Given the description of an element on the screen output the (x, y) to click on. 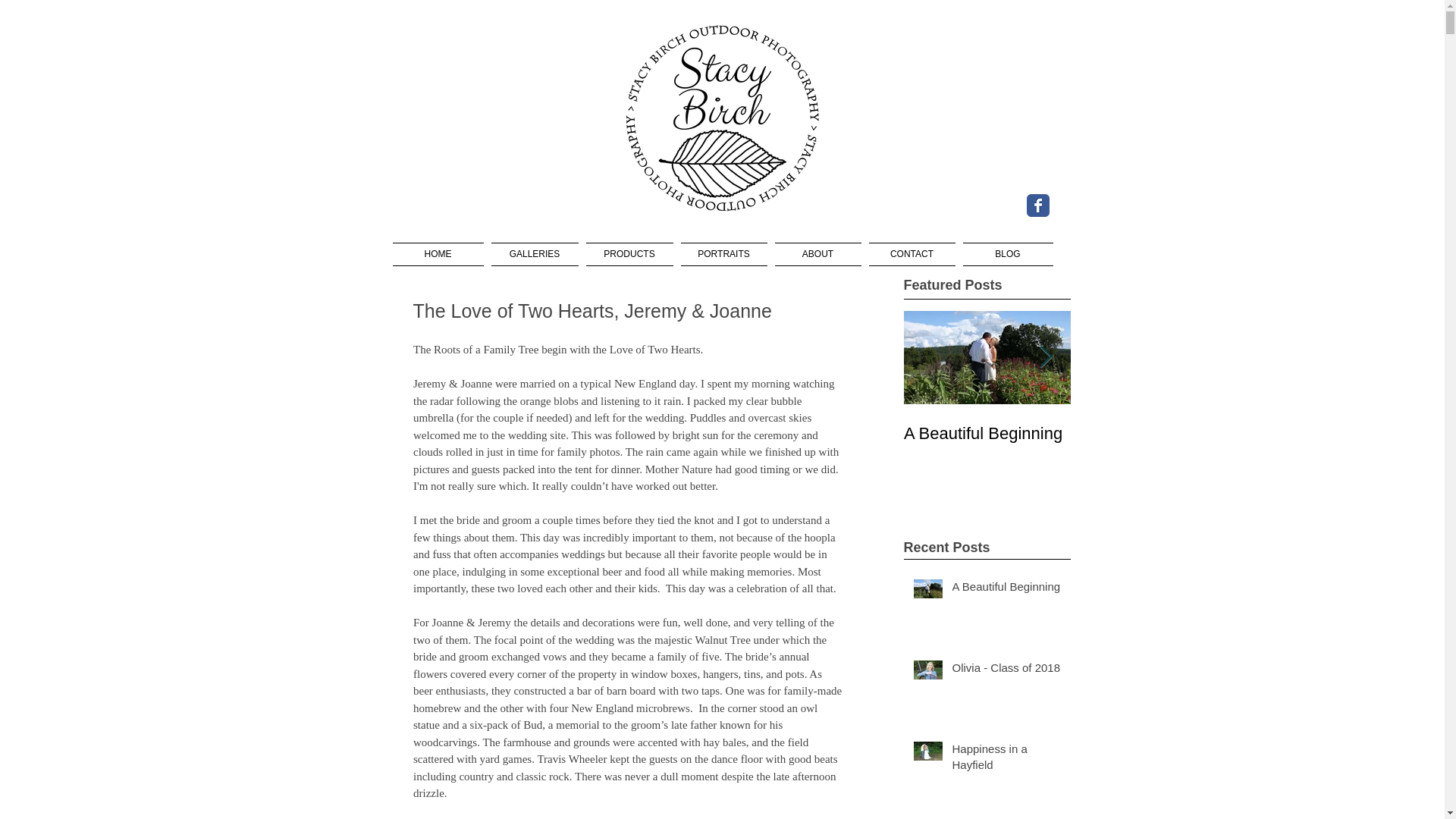
Happiness in a Hayfield (1153, 443)
A Beautiful Beginning (987, 433)
A Beautiful Beginning (1006, 589)
Happiness in a Hayfield (1006, 759)
Olivia - Class of 2018 (1006, 670)
